Given the description of an element on the screen output the (x, y) to click on. 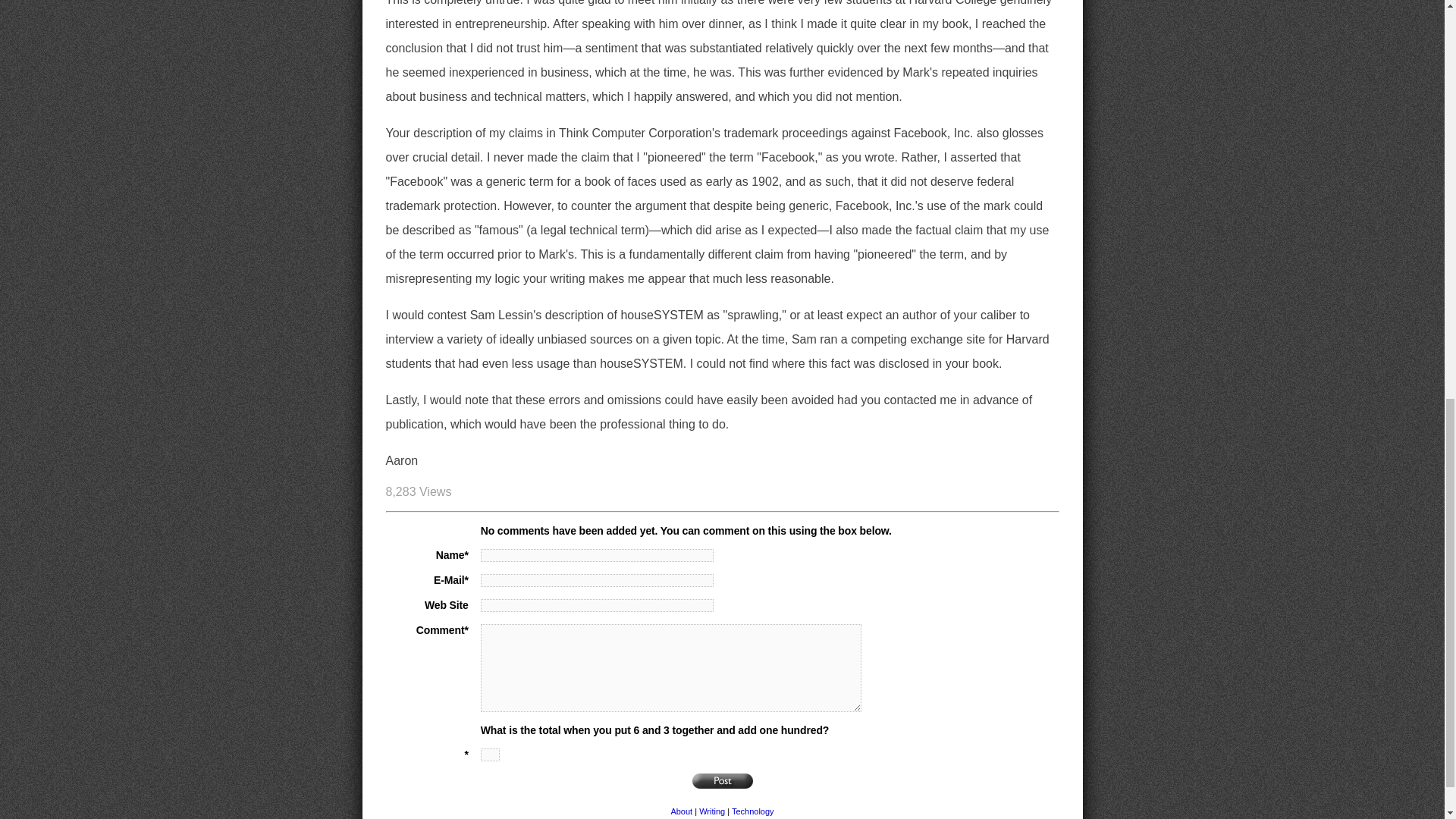
About (681, 810)
Writing (711, 810)
Post (721, 780)
Technology (753, 810)
